Given the description of an element on the screen output the (x, y) to click on. 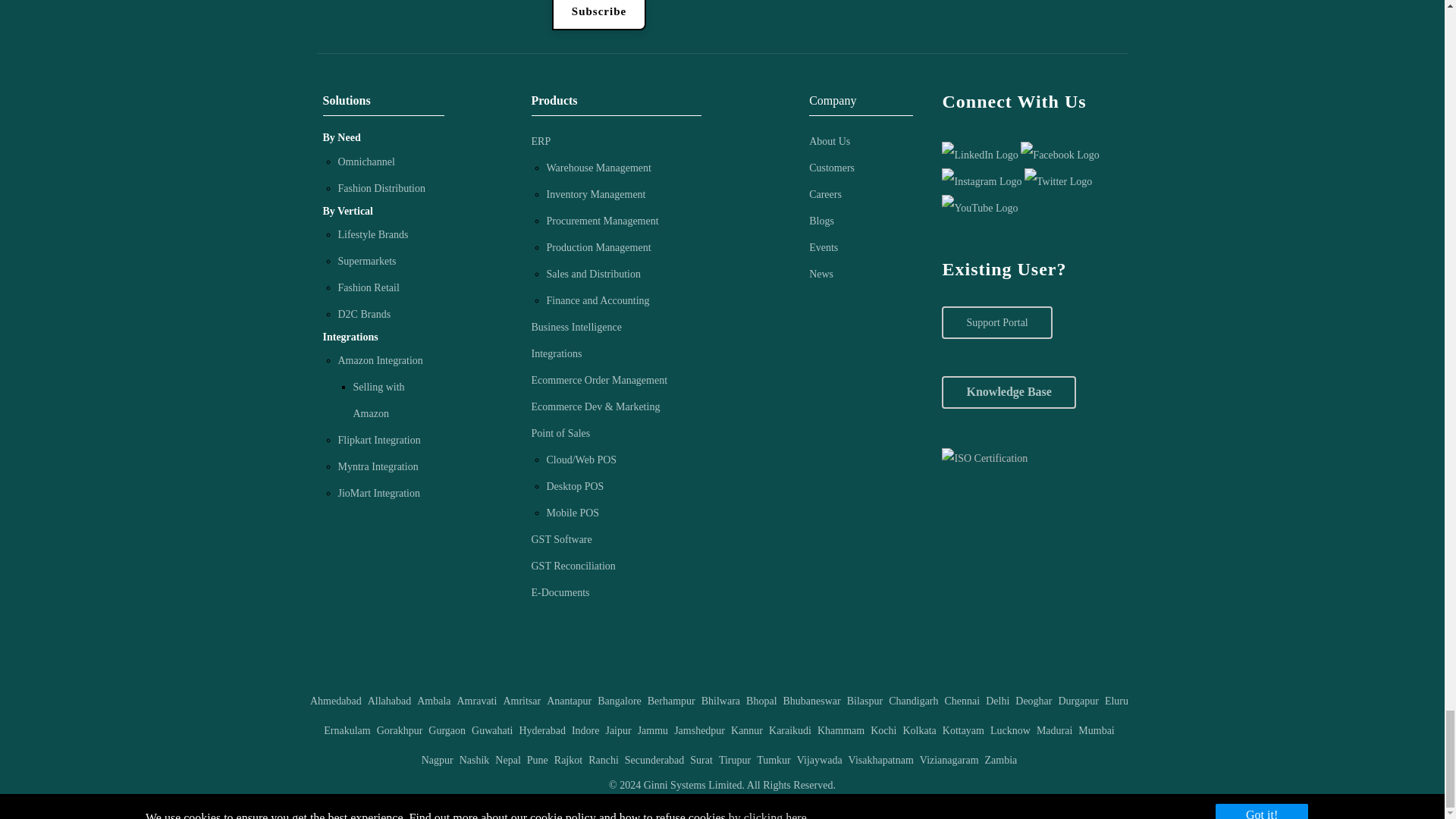
Subscribe (598, 15)
